Given the description of an element on the screen output the (x, y) to click on. 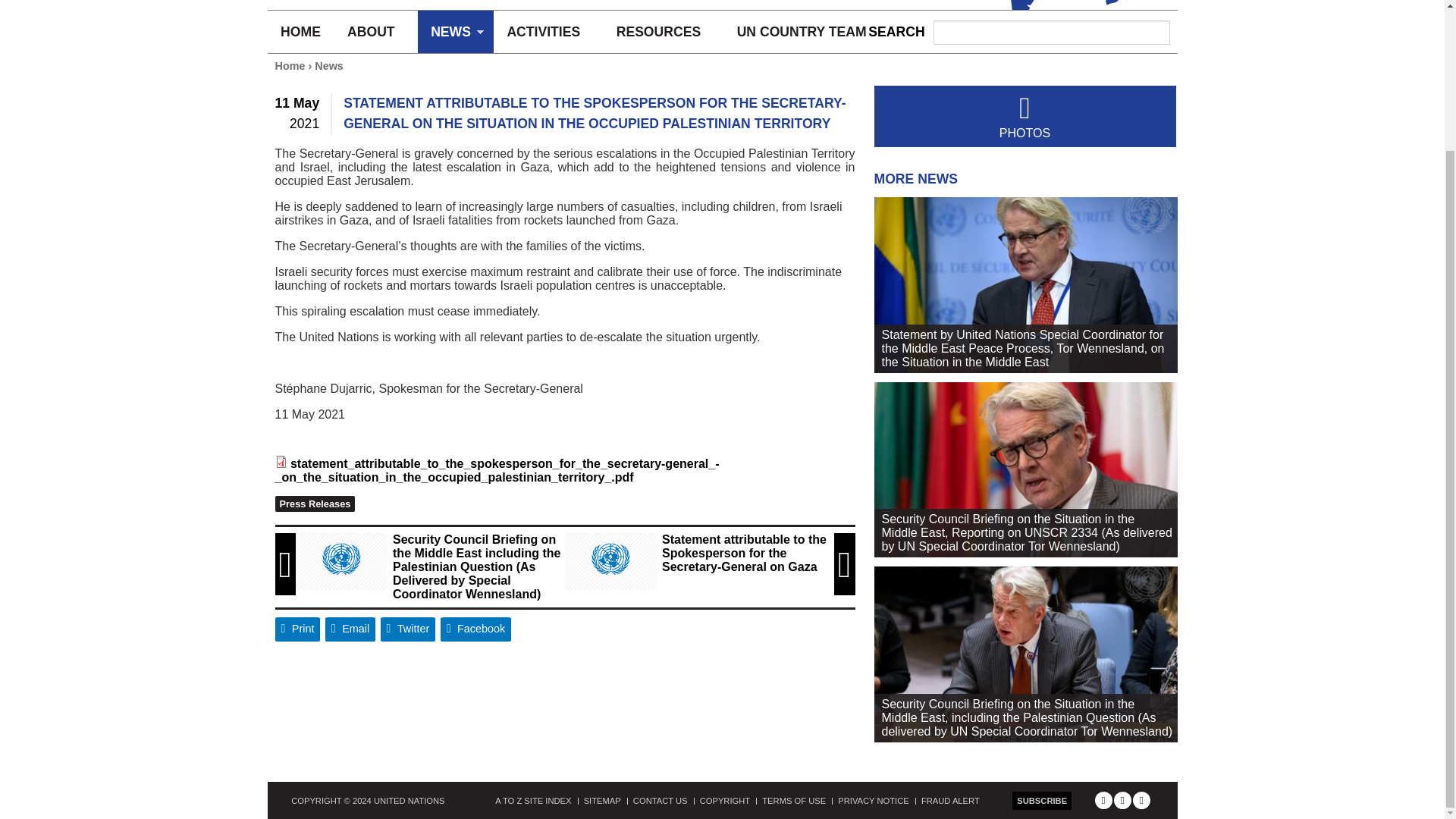
Enter the terms you wish to search for. (1051, 32)
Facebook (476, 629)
News (328, 65)
UN COUNTRY TEAM (801, 31)
Email (349, 629)
HOME (299, 31)
Twitter (407, 629)
Home (289, 65)
Print (297, 629)
